Given the description of an element on the screen output the (x, y) to click on. 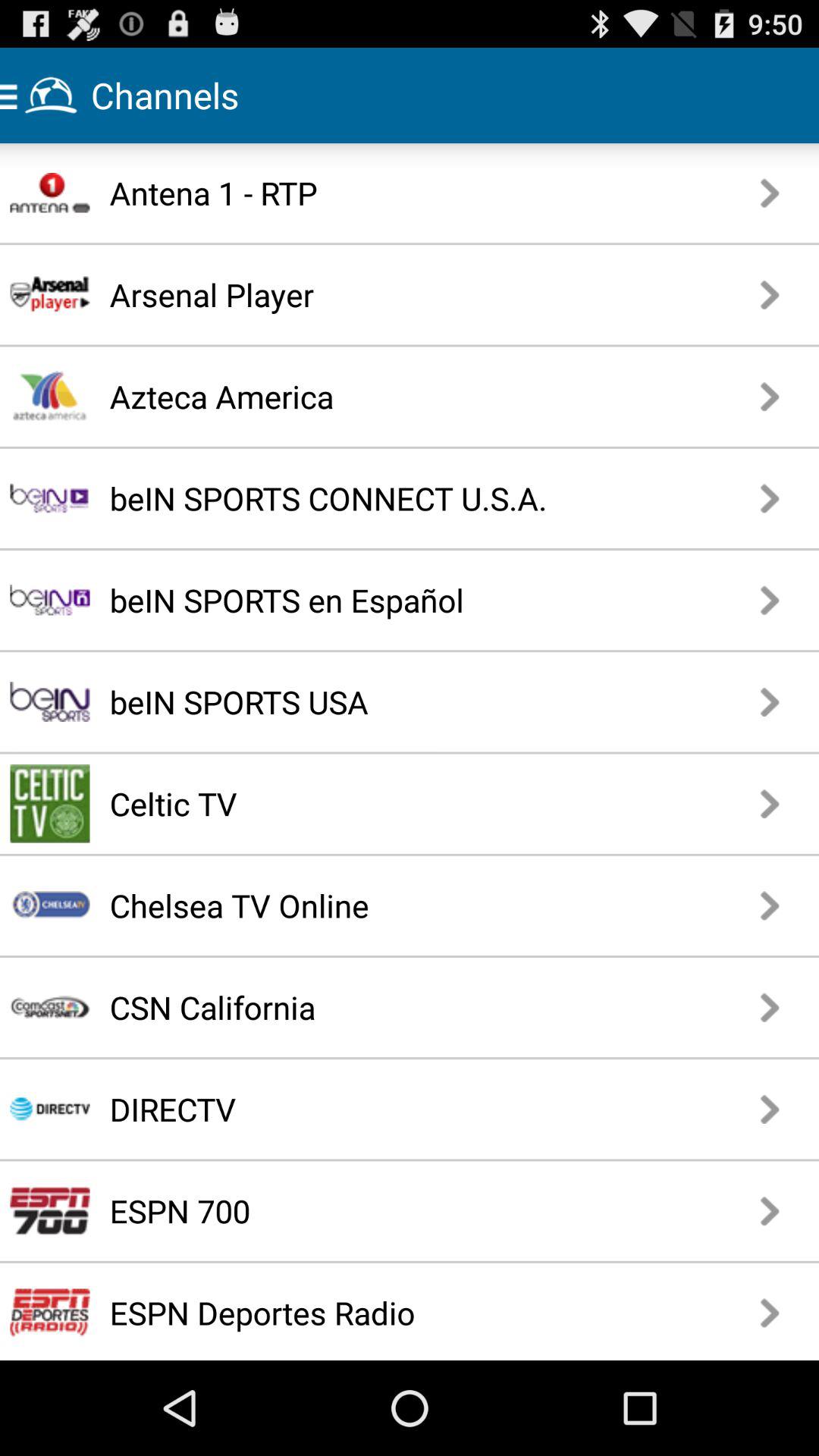
flip until the directv icon (355, 1108)
